Given the description of an element on the screen output the (x, y) to click on. 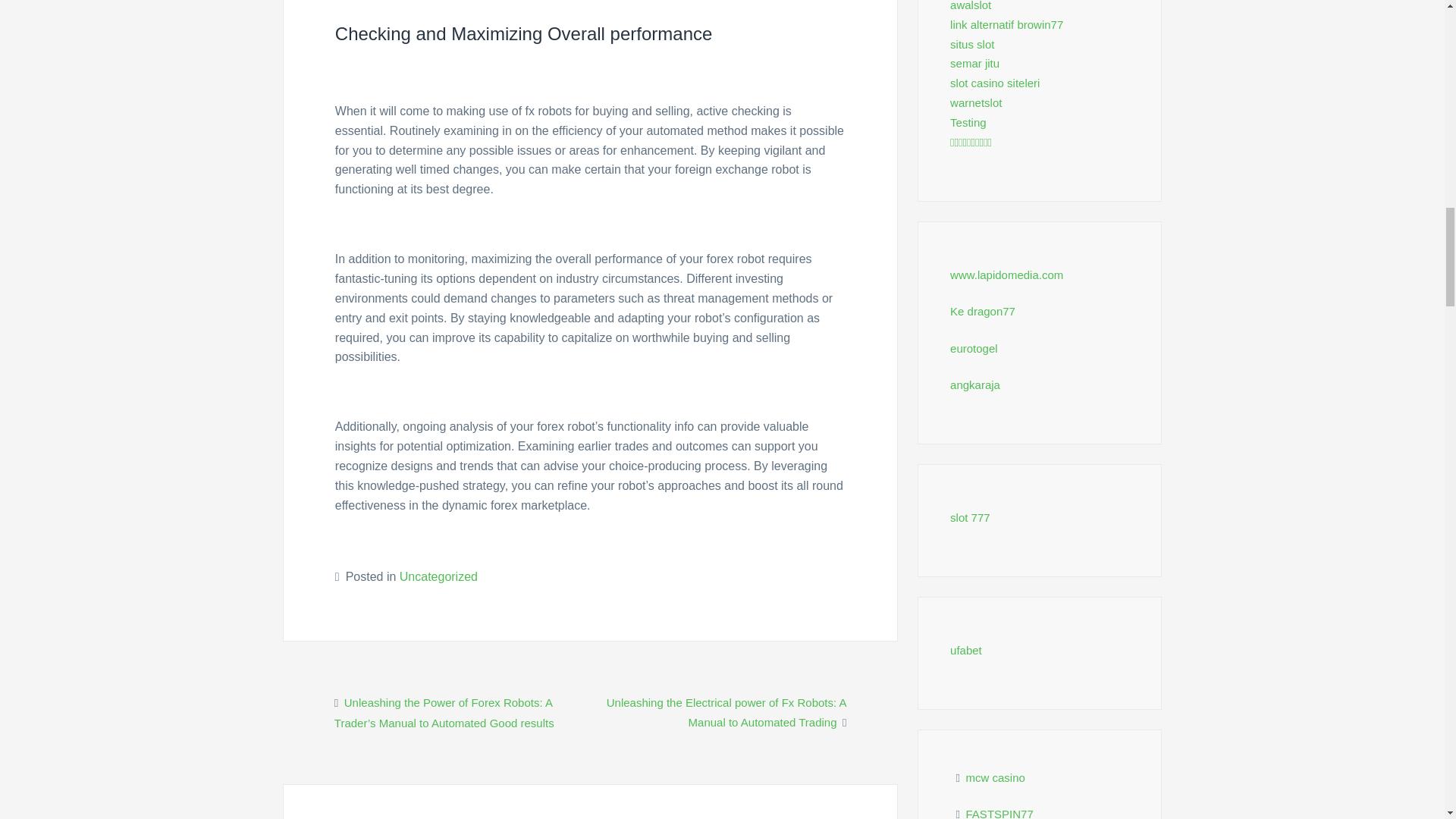
Uncategorized (437, 576)
semar jitu (974, 62)
link alternatif browin77 (1006, 24)
awalslot (970, 5)
Ke dragon77 (982, 310)
situs slot (972, 43)
Testing (968, 122)
slot casino siteleri (994, 82)
warnetslot (975, 102)
www.lapidomedia.com (1006, 274)
